Given the description of an element on the screen output the (x, y) to click on. 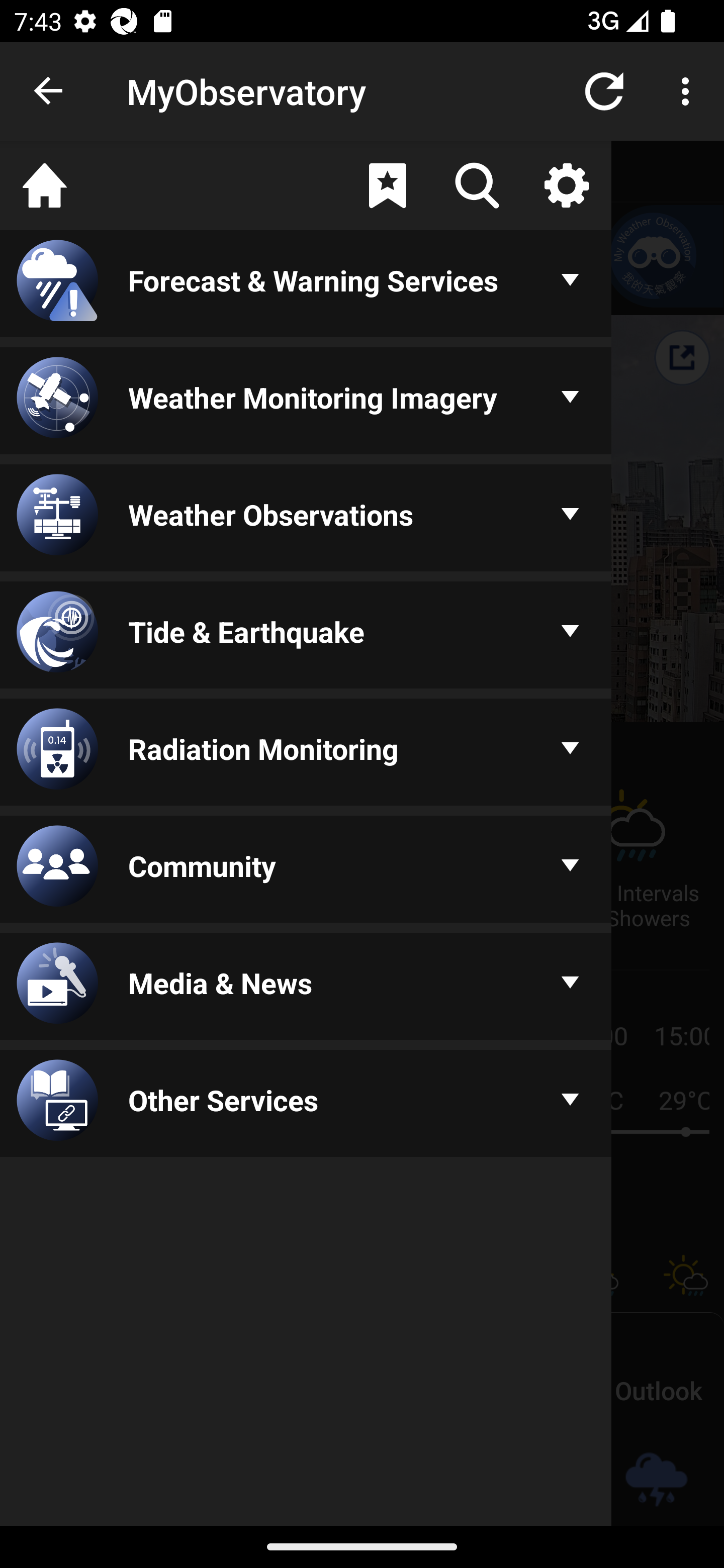
Navigate up (49, 91)
Refresh (604, 90)
More options (688, 90)
Homepage (44, 185)
Bookmark Manager (387, 185)
Search Unselected (477, 185)
Settings (566, 185)
Forecast & Warning Services Collapsed (305, 285)
Weather Monitoring Imagery Collapsed (305, 401)
Weather Observations Collapsed (305, 518)
Tide & Earthquake Collapsed (305, 636)
Radiation Monitoring Collapsed (305, 753)
Community Collapsed (305, 870)
Media & News Collapsed (305, 987)
Other Services Collapsed (305, 1104)
